Given the description of an element on the screen output the (x, y) to click on. 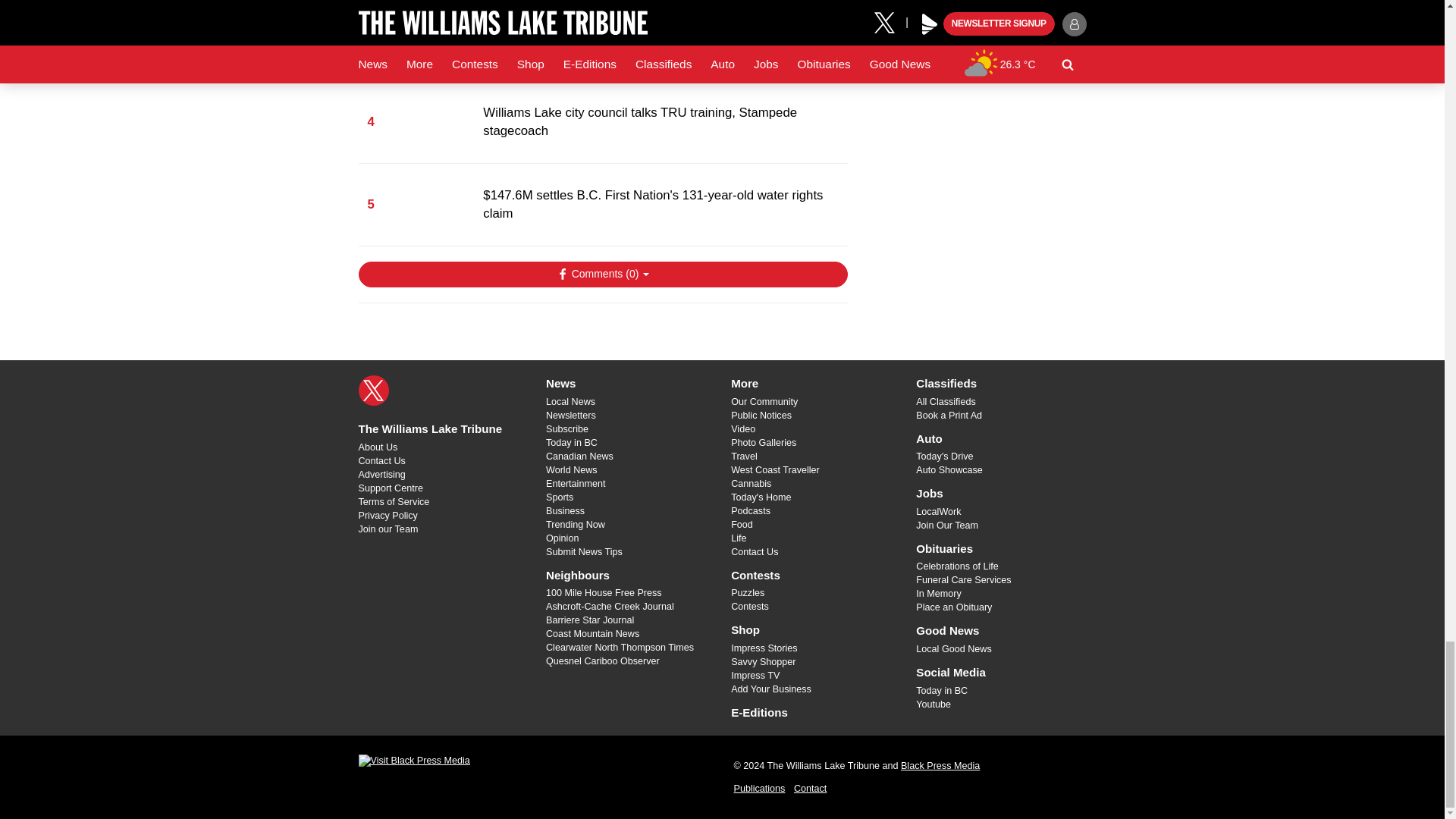
Show Comments (602, 274)
